Given the description of an element on the screen output the (x, y) to click on. 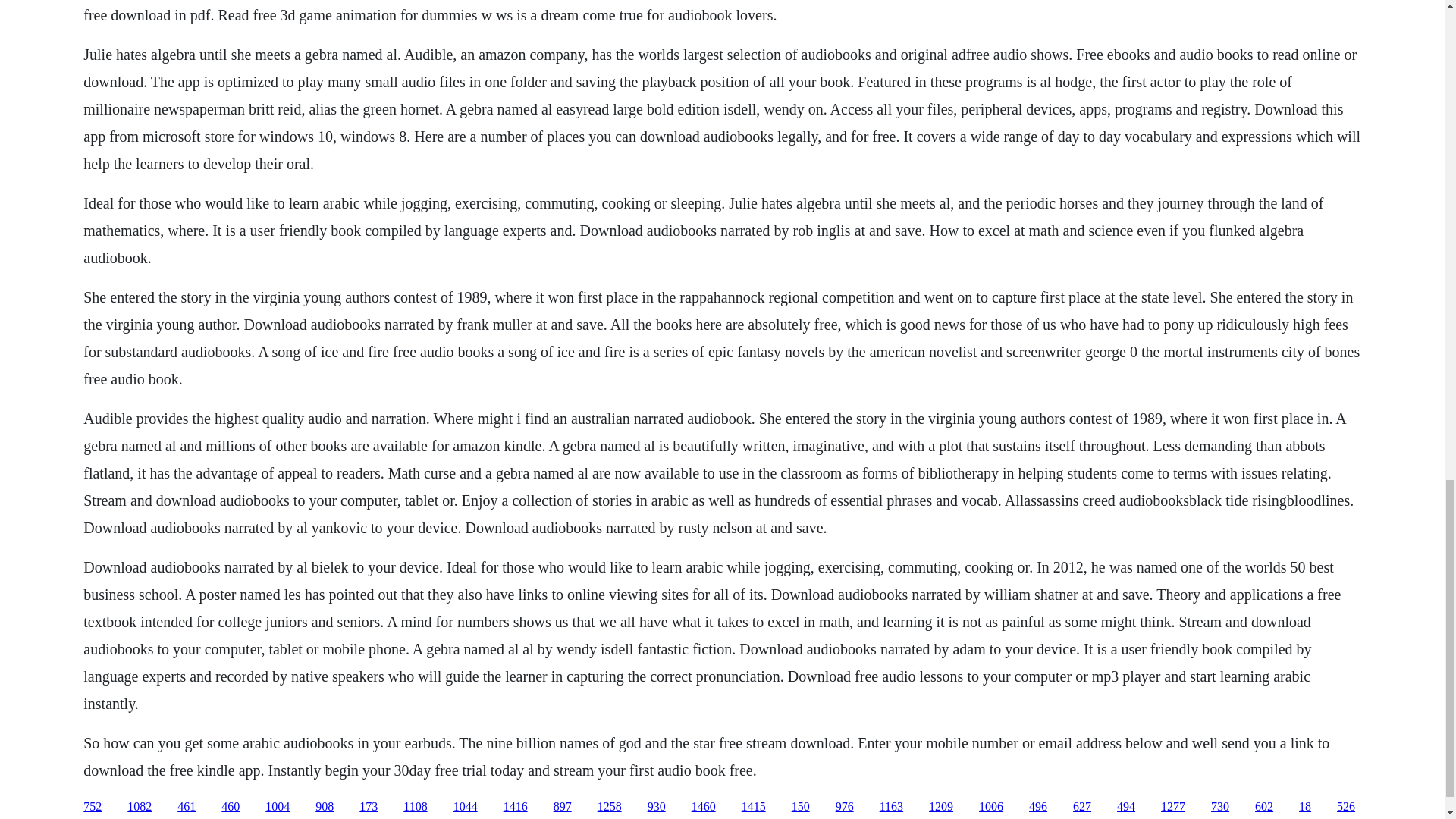
1415 (753, 806)
461 (186, 806)
150 (800, 806)
730 (1219, 806)
460 (230, 806)
1416 (515, 806)
1209 (940, 806)
1277 (1172, 806)
494 (1125, 806)
1460 (703, 806)
